Given the description of an element on the screen output the (x, y) to click on. 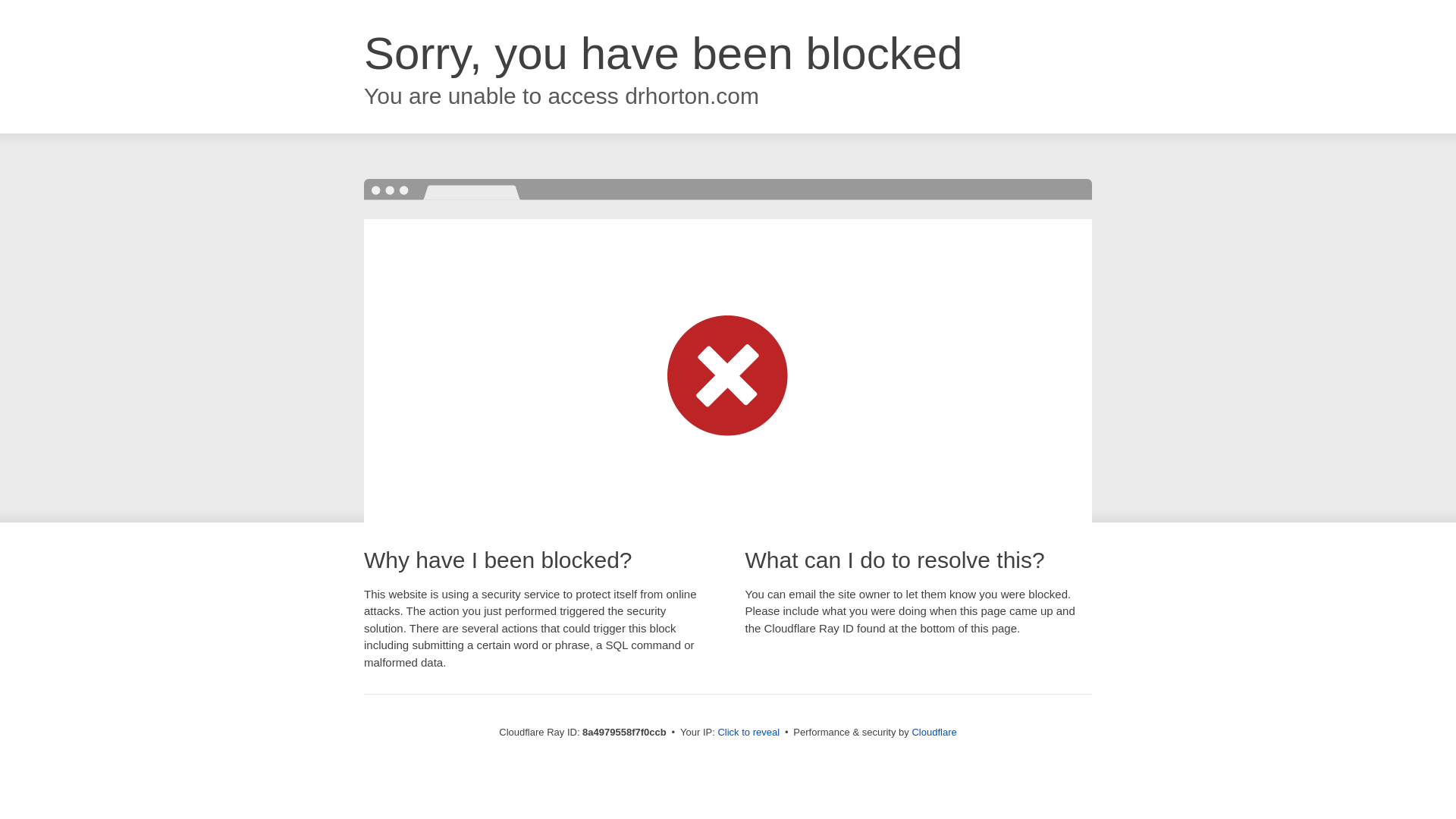
Click to reveal (747, 732)
Cloudflare (933, 731)
